Given the description of an element on the screen output the (x, y) to click on. 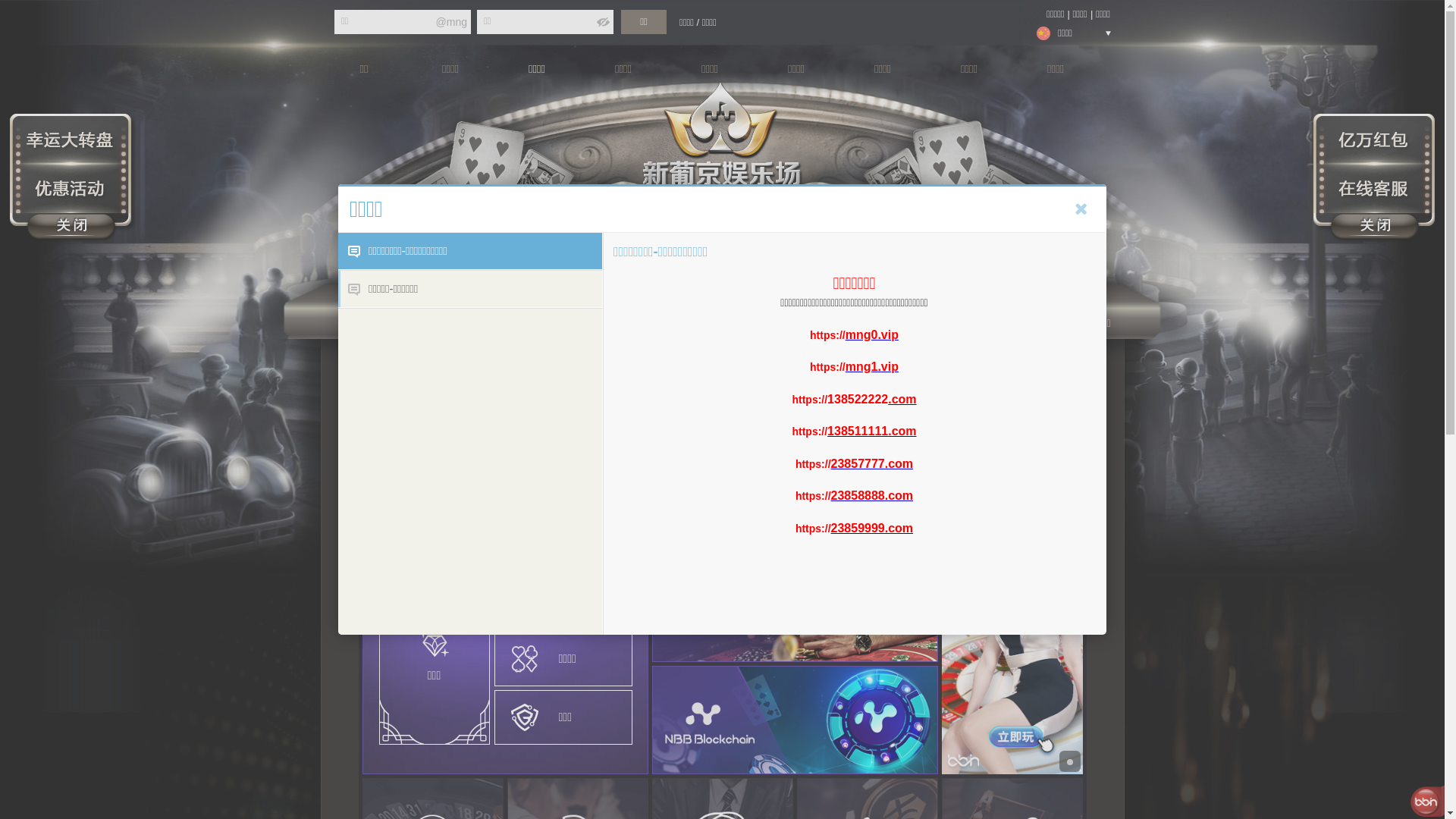
mng0.vip Element type: text (871, 333)
23858888.com Element type: text (872, 495)
. Element type: text (878, 366)
.com Element type: text (902, 398)
23859999.com Element type: text (872, 527)
23857777.com Element type: text (872, 462)
mng1 Element type: text (861, 366)
138511111.com Element type: text (871, 430)
vip Element type: text (889, 366)
